Given the description of an element on the screen output the (x, y) to click on. 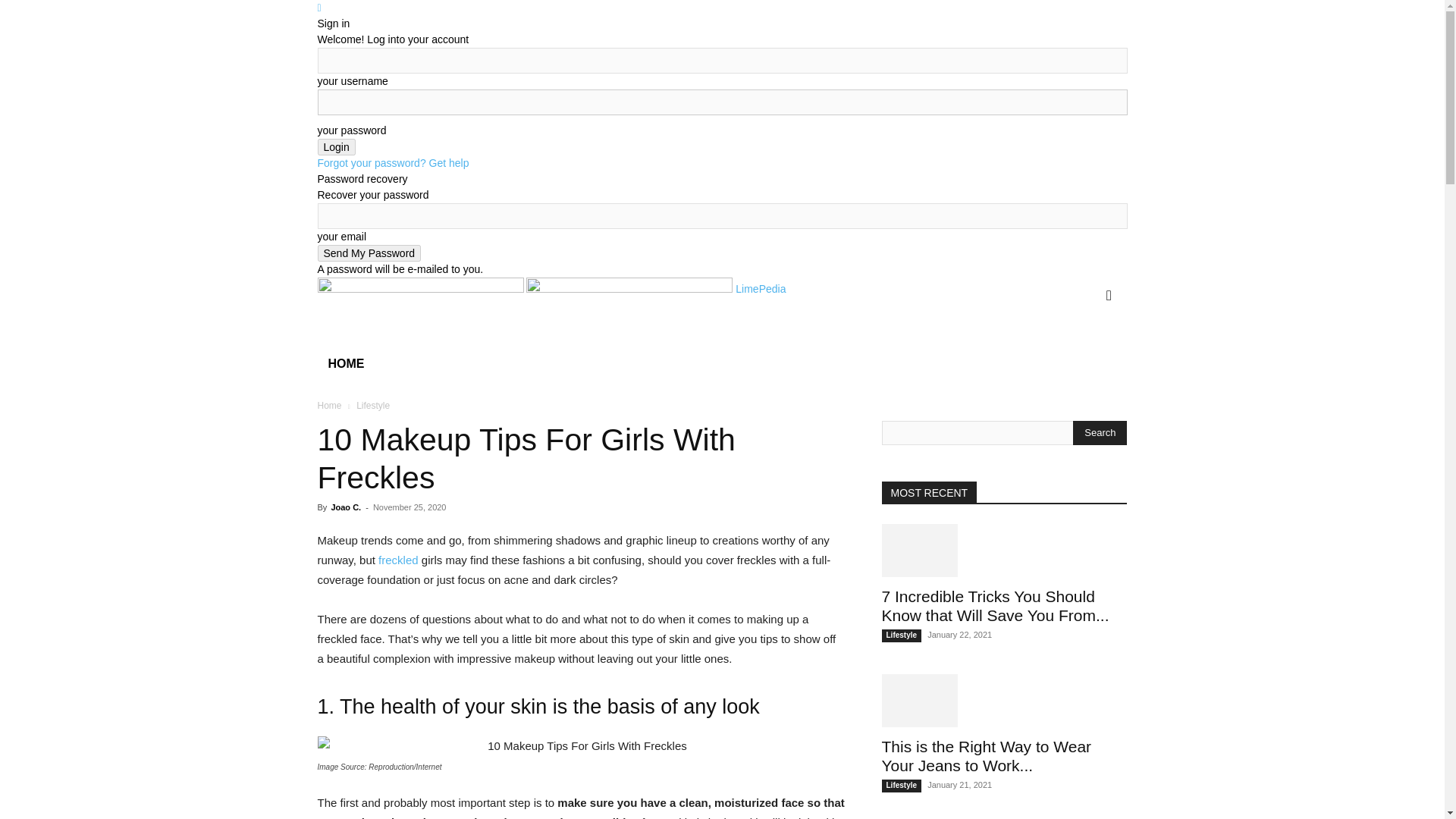
Forgot your password? Get help (392, 162)
Login (336, 146)
freckled (398, 559)
LimePedia (655, 288)
Search (1085, 355)
Home (328, 405)
Search (1099, 432)
Lifestyle (900, 635)
Search (1099, 432)
Joao C. (345, 506)
Send My Password (368, 252)
This is the Right Way to Wear Your Jeans to Work... (985, 755)
